Given the description of an element on the screen output the (x, y) to click on. 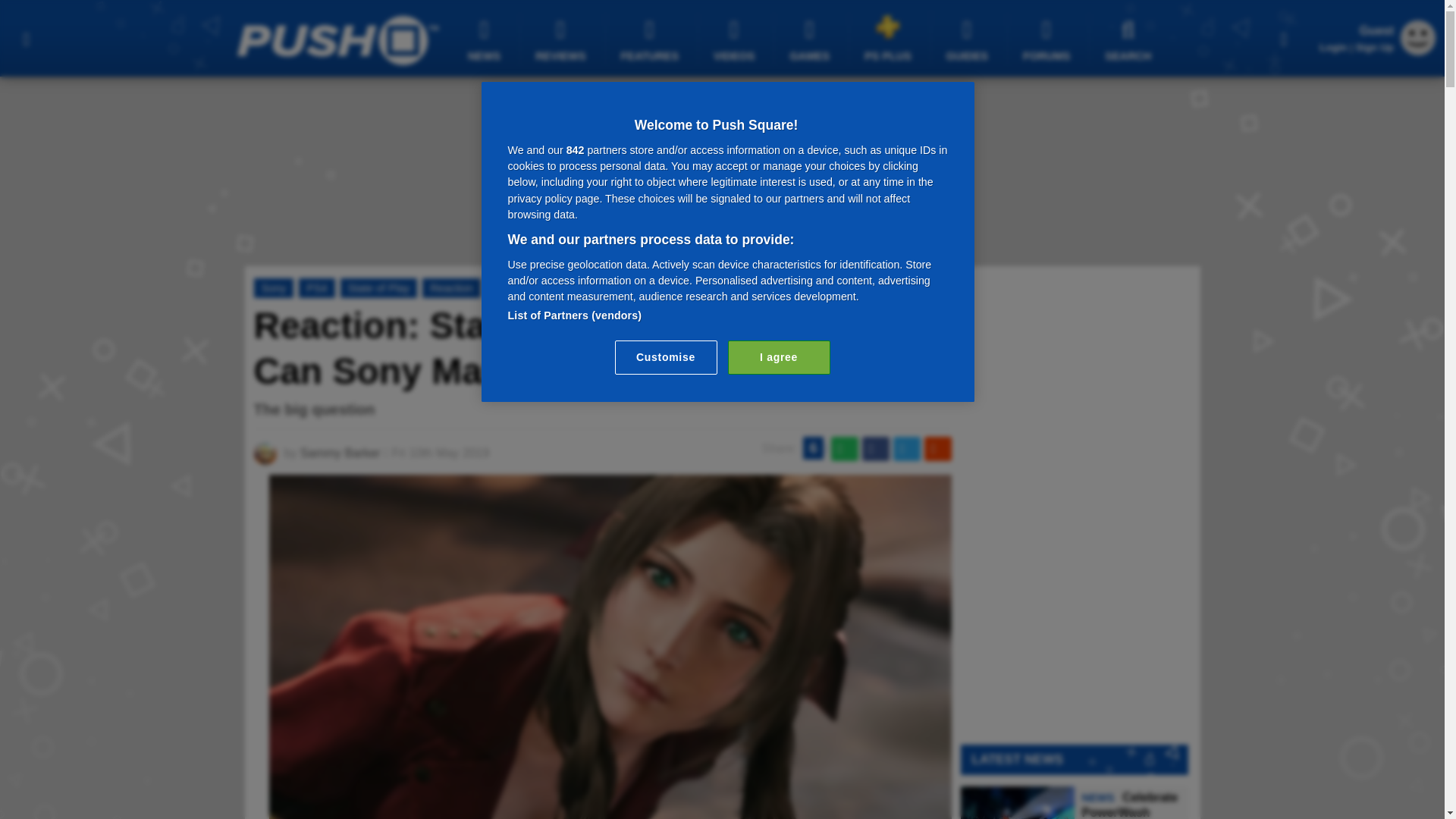
GUIDES (969, 39)
Guest (1417, 51)
REVIEWS (562, 39)
Share This Page (1283, 37)
NEWS (485, 39)
GAMES (811, 39)
Push Square (336, 40)
Guest (1417, 37)
FEATURES (651, 39)
PS PLUS (889, 38)
Login (1332, 47)
FORUMS (1048, 39)
VIDEOS (736, 39)
Push Square (336, 40)
Sign Up (1374, 47)
